Given the description of an element on the screen output the (x, y) to click on. 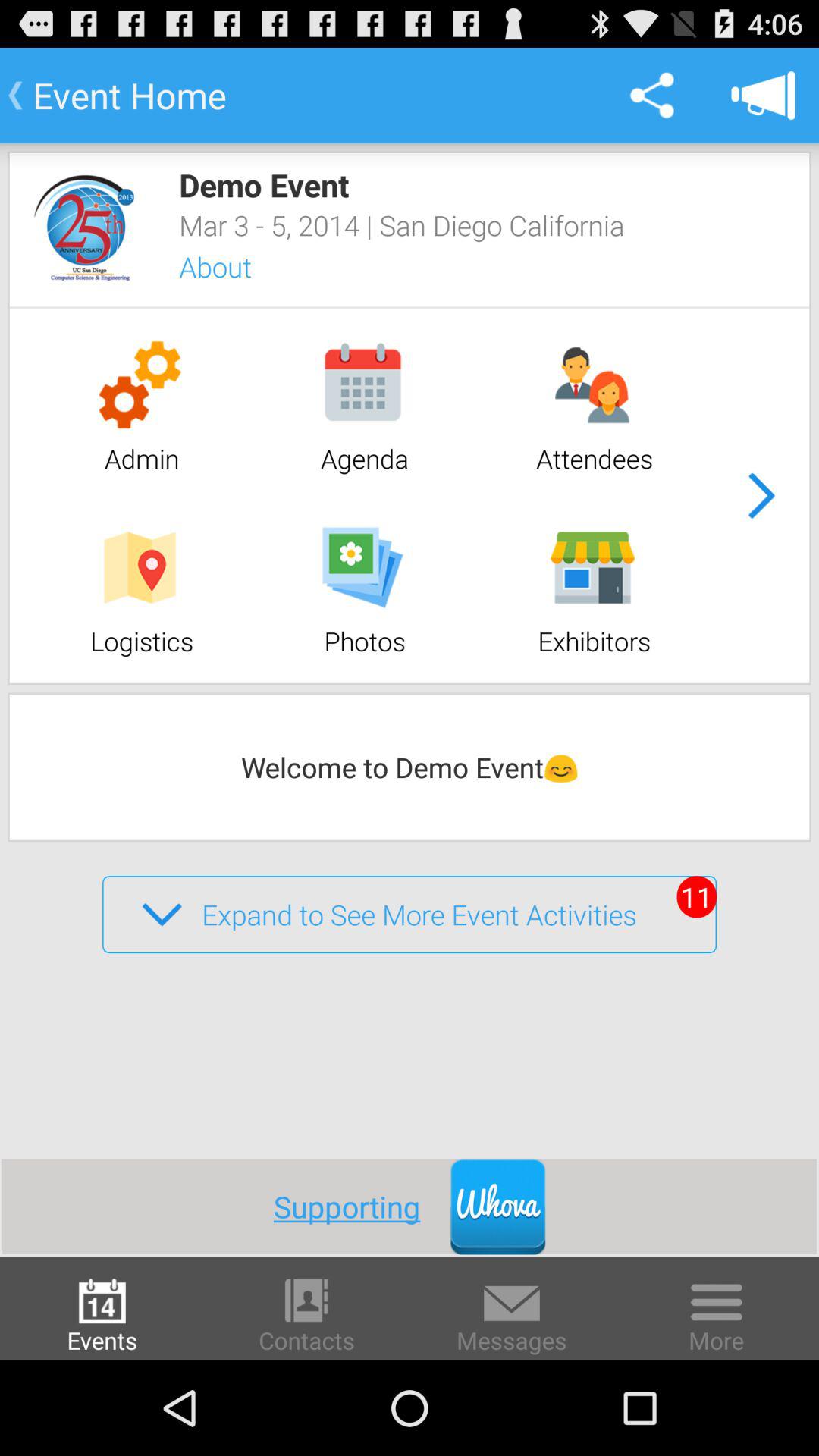
press item to the left of demo event app (84, 227)
